Given the description of an element on the screen output the (x, y) to click on. 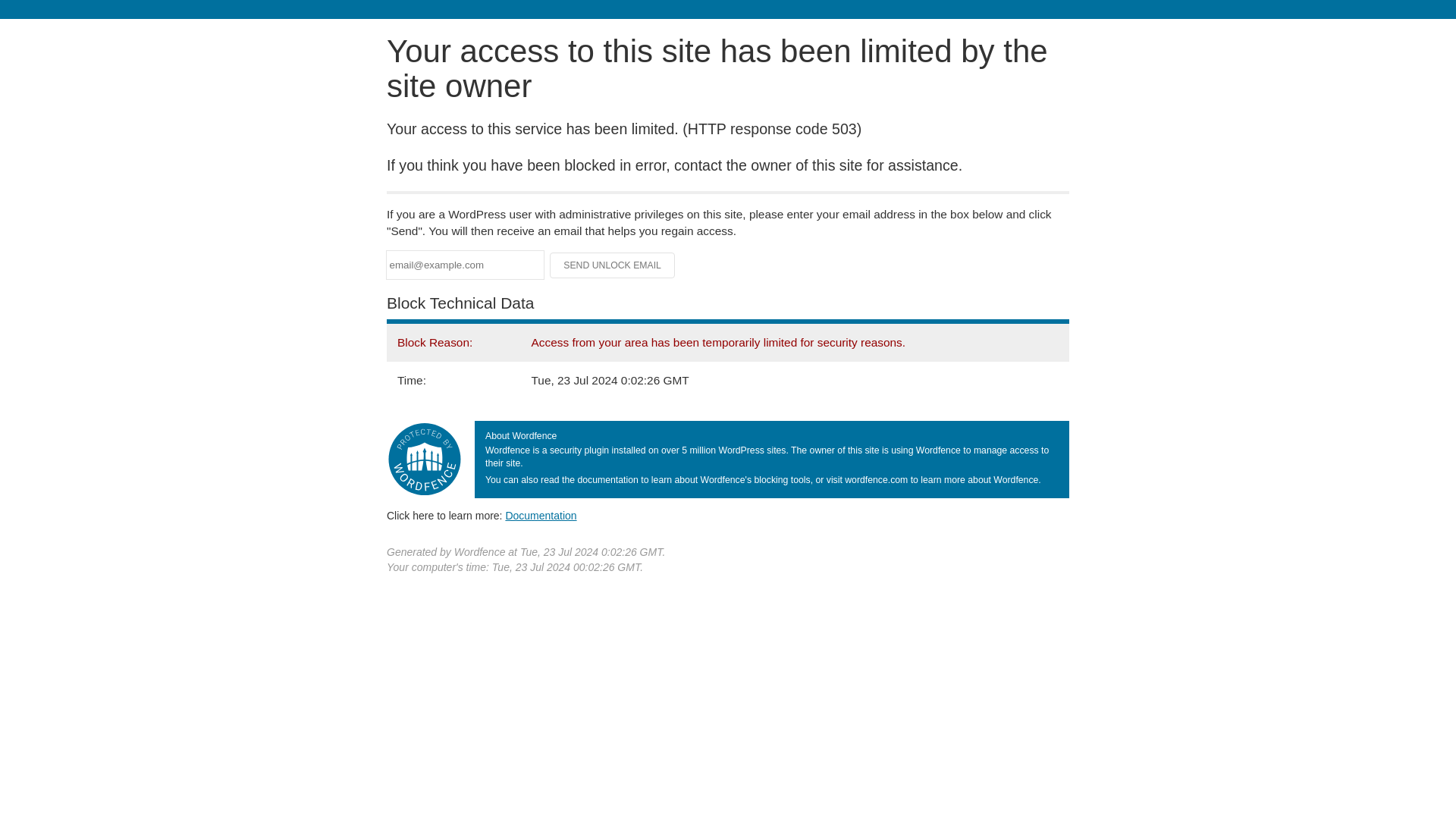
Documentation (540, 515)
Send Unlock Email (612, 265)
Send Unlock Email (612, 265)
